Given the description of an element on the screen output the (x, y) to click on. 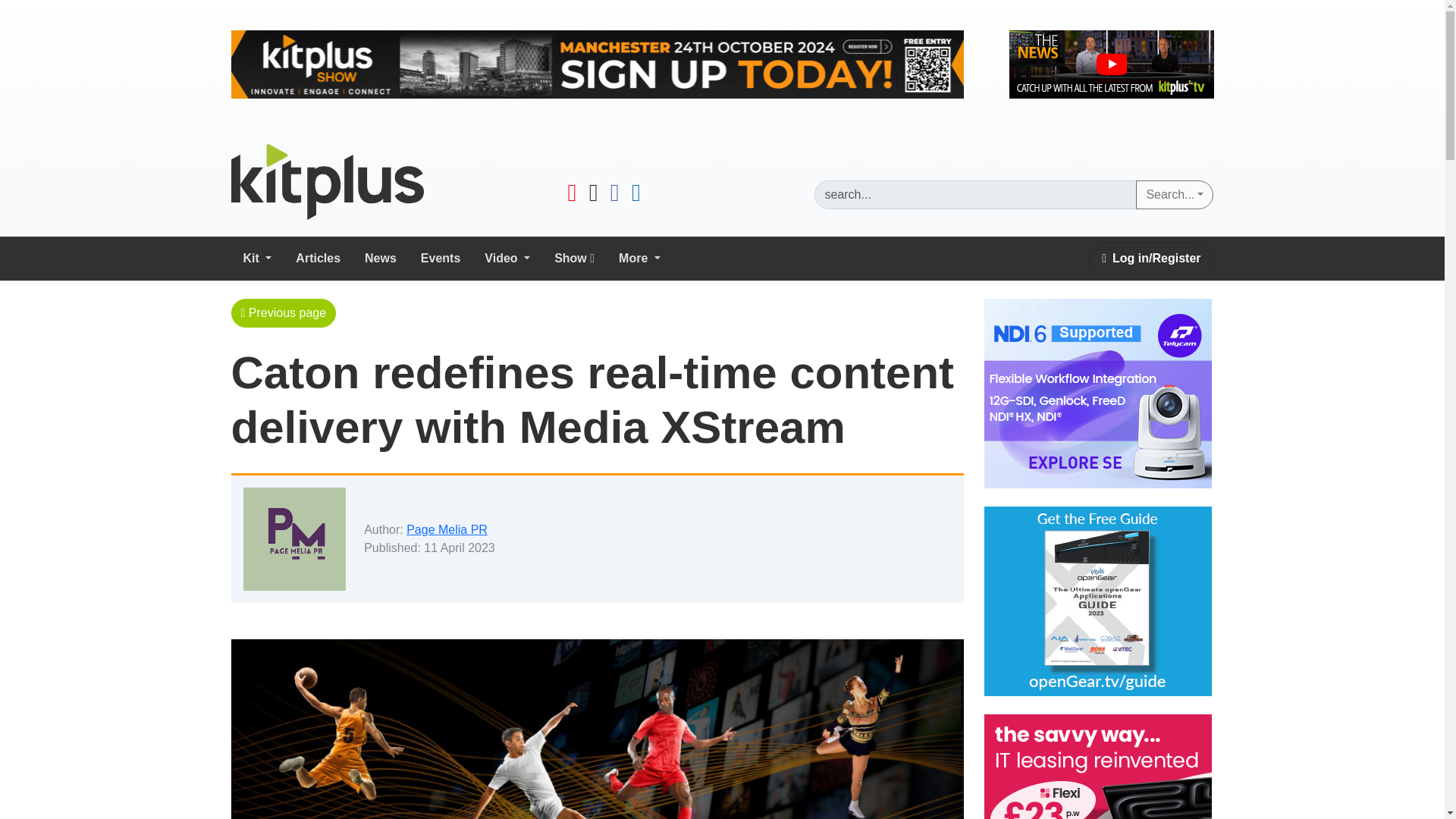
Events (440, 258)
Video (506, 258)
More (639, 258)
Articles (317, 258)
Show (574, 258)
Kit (256, 258)
Search... (1173, 194)
News (380, 258)
